Given the description of an element on the screen output the (x, y) to click on. 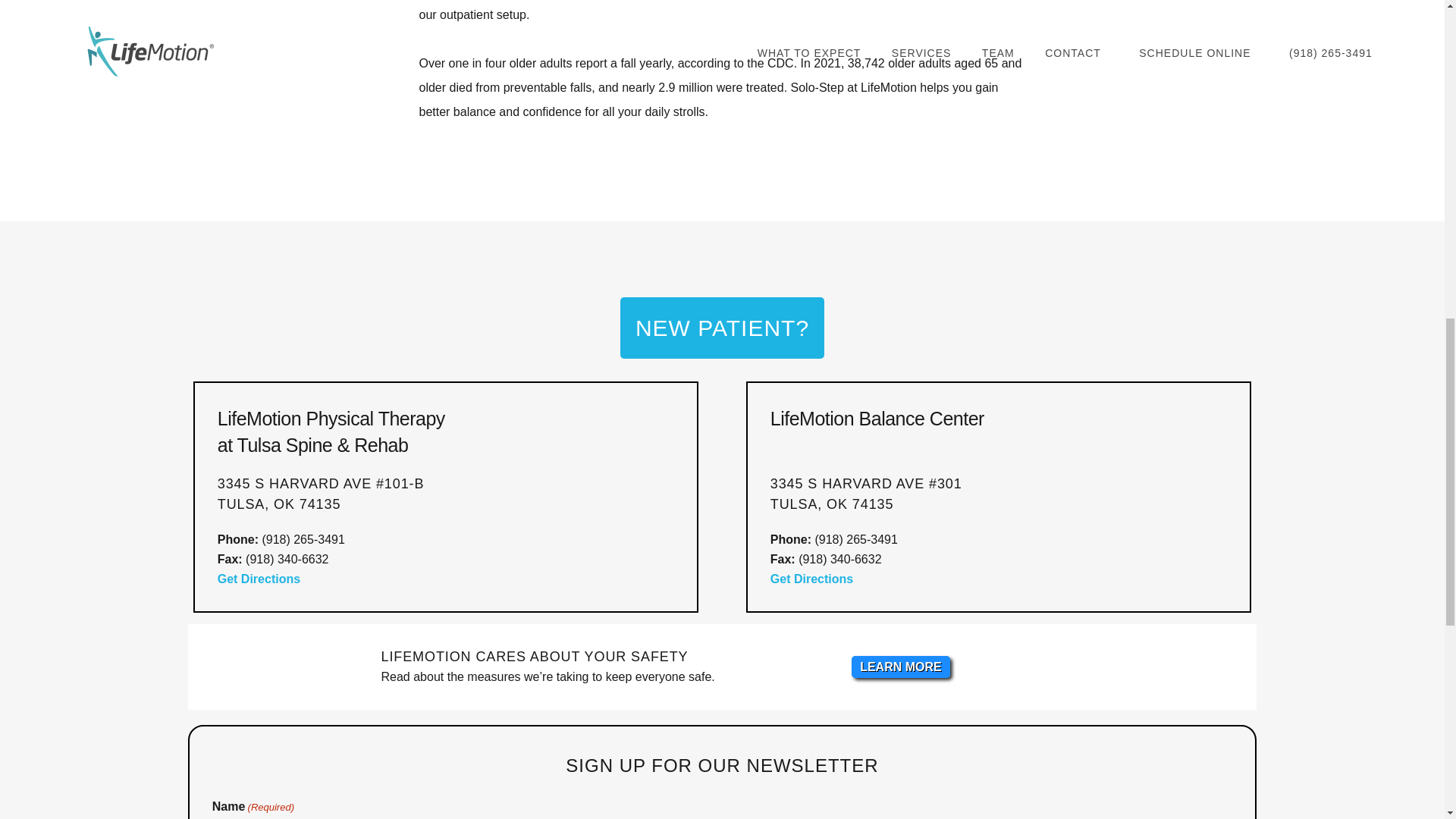
NEW PATIENT? (722, 327)
Get Directions (272, 588)
